Given the description of an element on the screen output the (x, y) to click on. 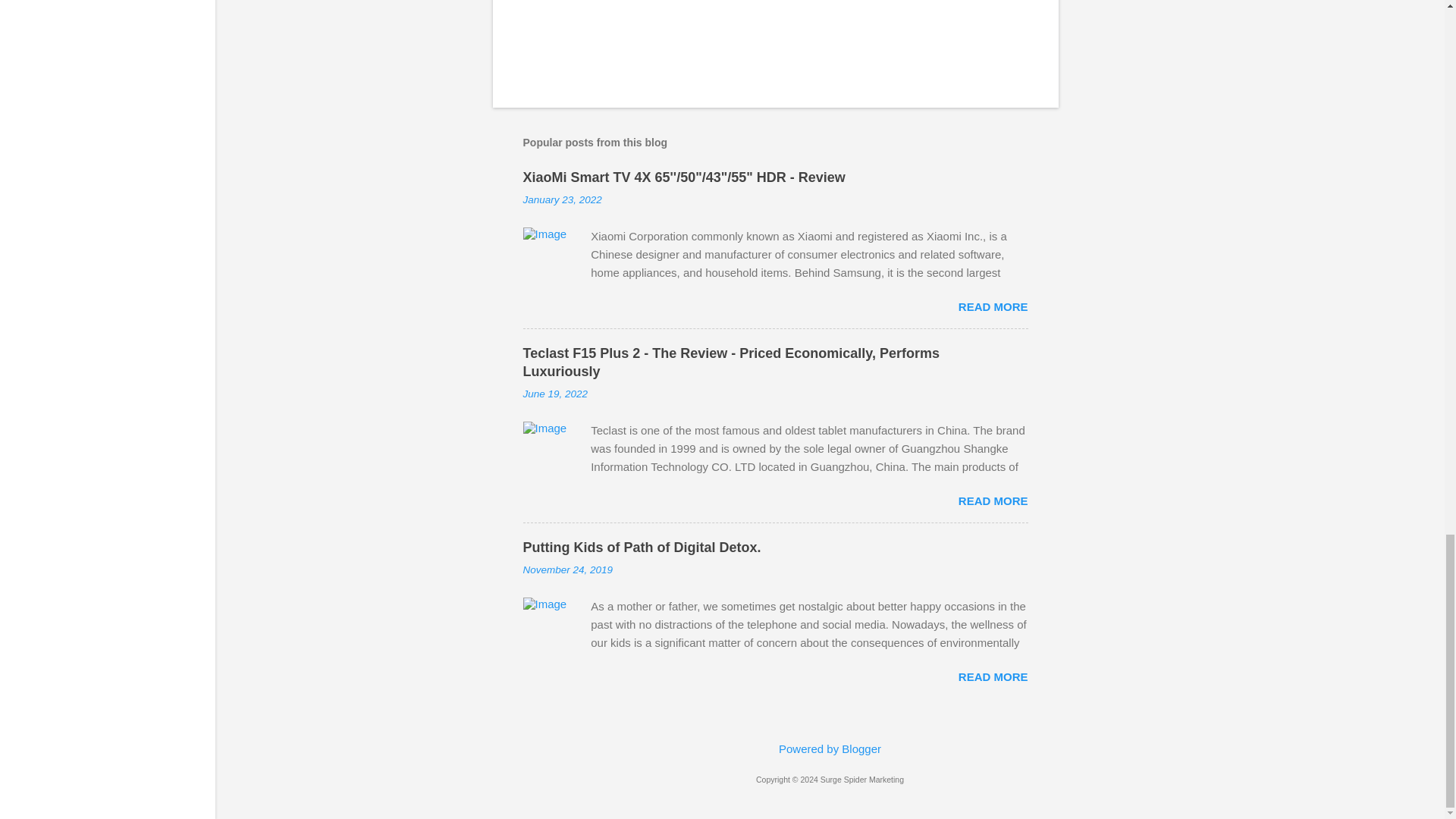
READ MORE (992, 676)
Putting Kids of Path of Digital Detox. (641, 547)
READ MORE (992, 500)
January 23, 2022 (562, 199)
Powered by Blogger (829, 748)
READ MORE (992, 306)
June 19, 2022 (555, 393)
November 24, 2019 (567, 569)
